Given the description of an element on the screen output the (x, y) to click on. 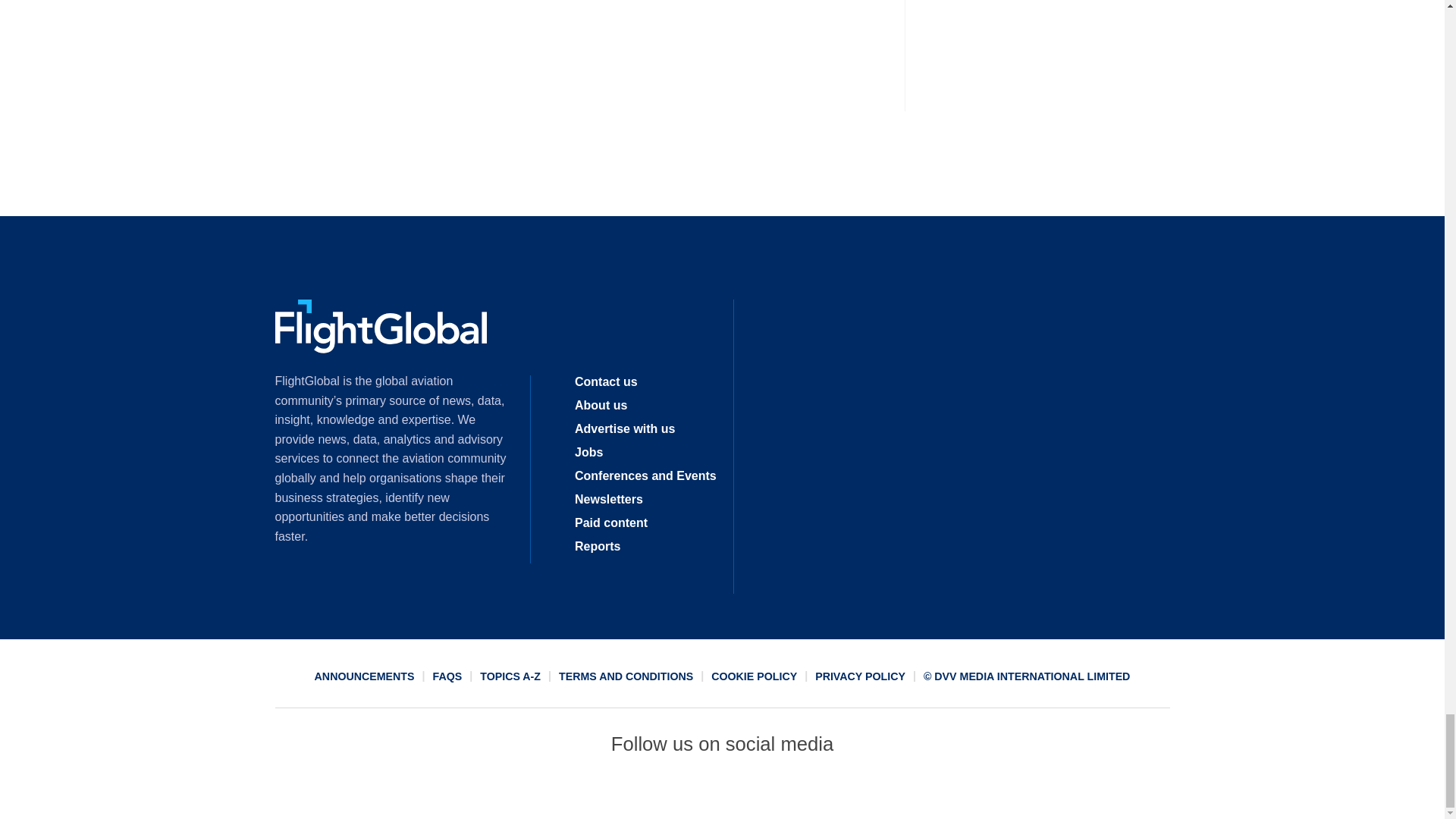
Connect with us on Youtube (831, 791)
Connect with us on Twitter (667, 791)
Connect with us on Linked In (721, 791)
Email us (776, 791)
Connect with us on Facebook (611, 791)
